Given the description of an element on the screen output the (x, y) to click on. 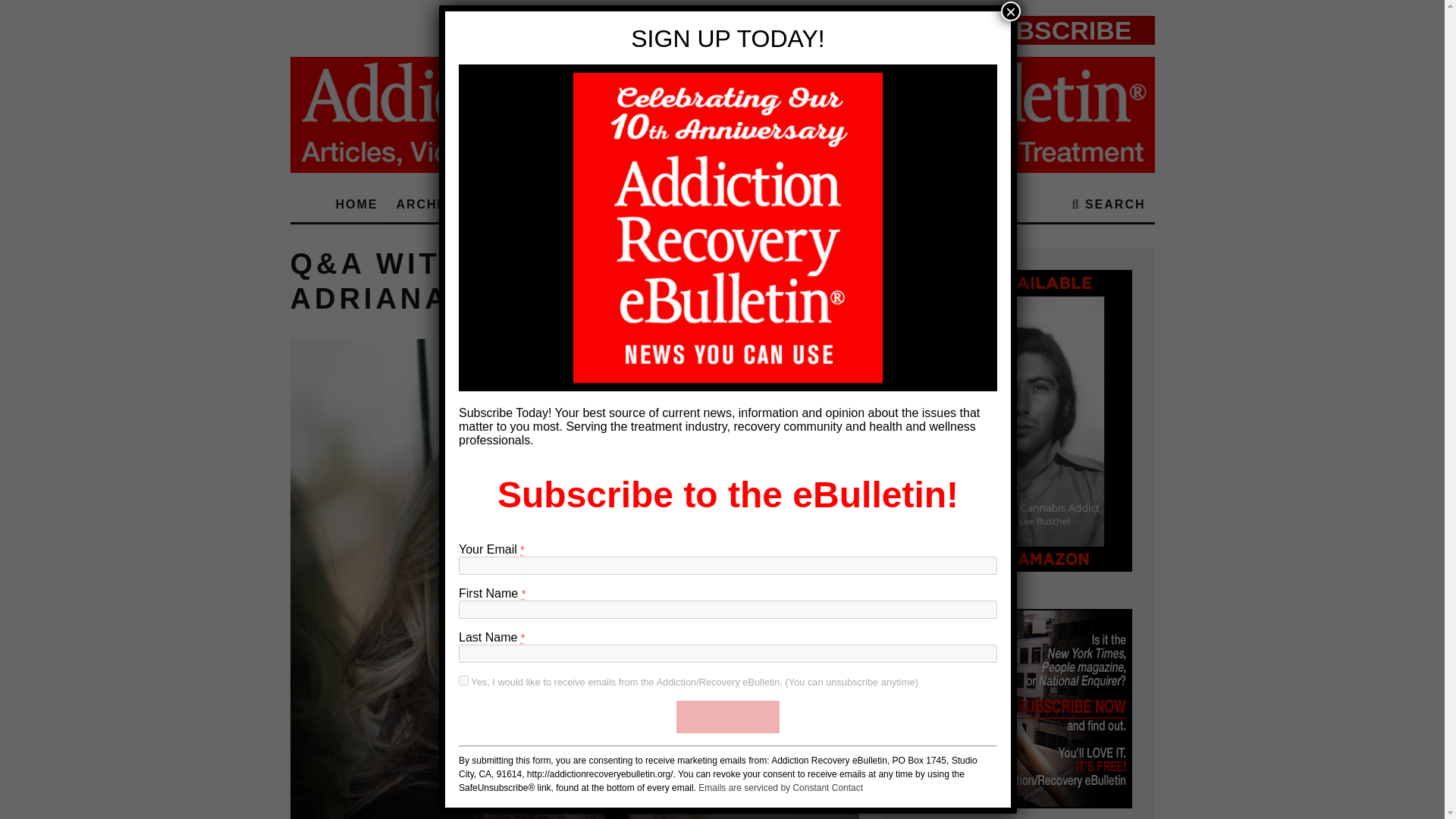
1 (463, 680)
Search (1108, 204)
SUBSCRIBE (727, 717)
